Given the description of an element on the screen output the (x, y) to click on. 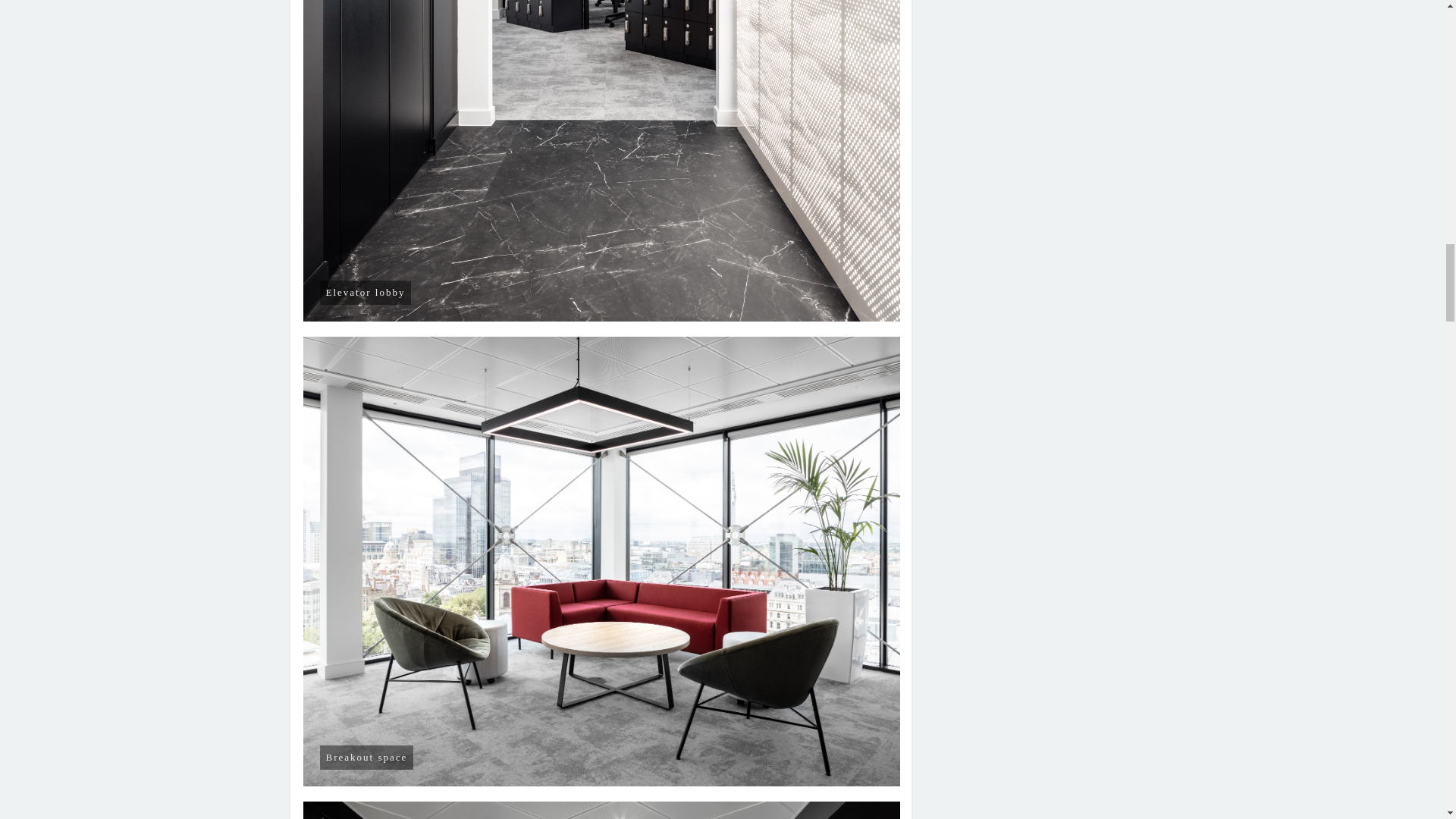
Breakout space (601, 810)
